Given the description of an element on the screen output the (x, y) to click on. 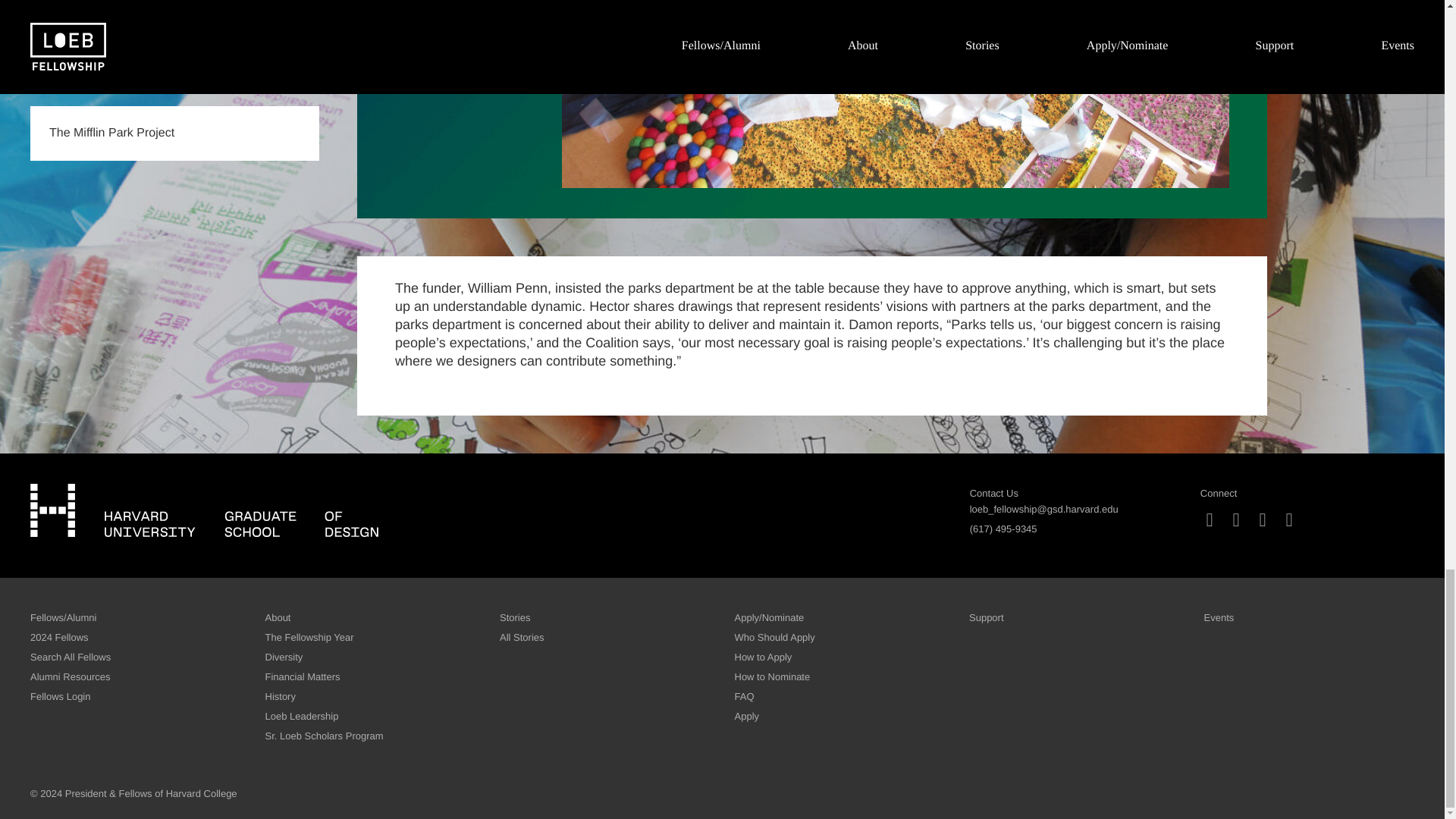
Harvard Graduate School of Design (204, 510)
Contact Us (993, 492)
Visit us on Instagram (1209, 520)
